Given the description of an element on the screen output the (x, y) to click on. 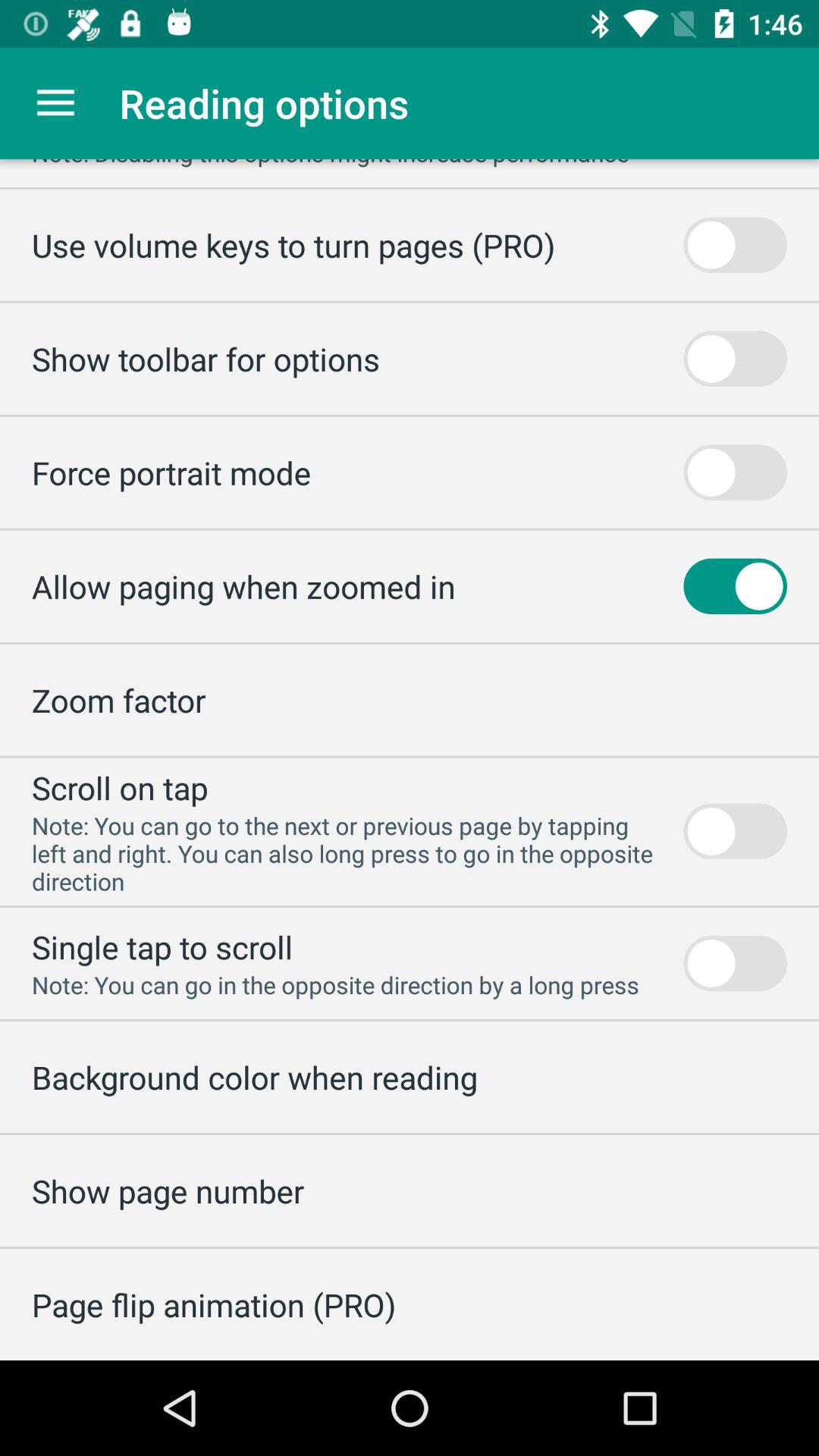
press the icon below the allow paging when icon (118, 699)
